Given the description of an element on the screen output the (x, y) to click on. 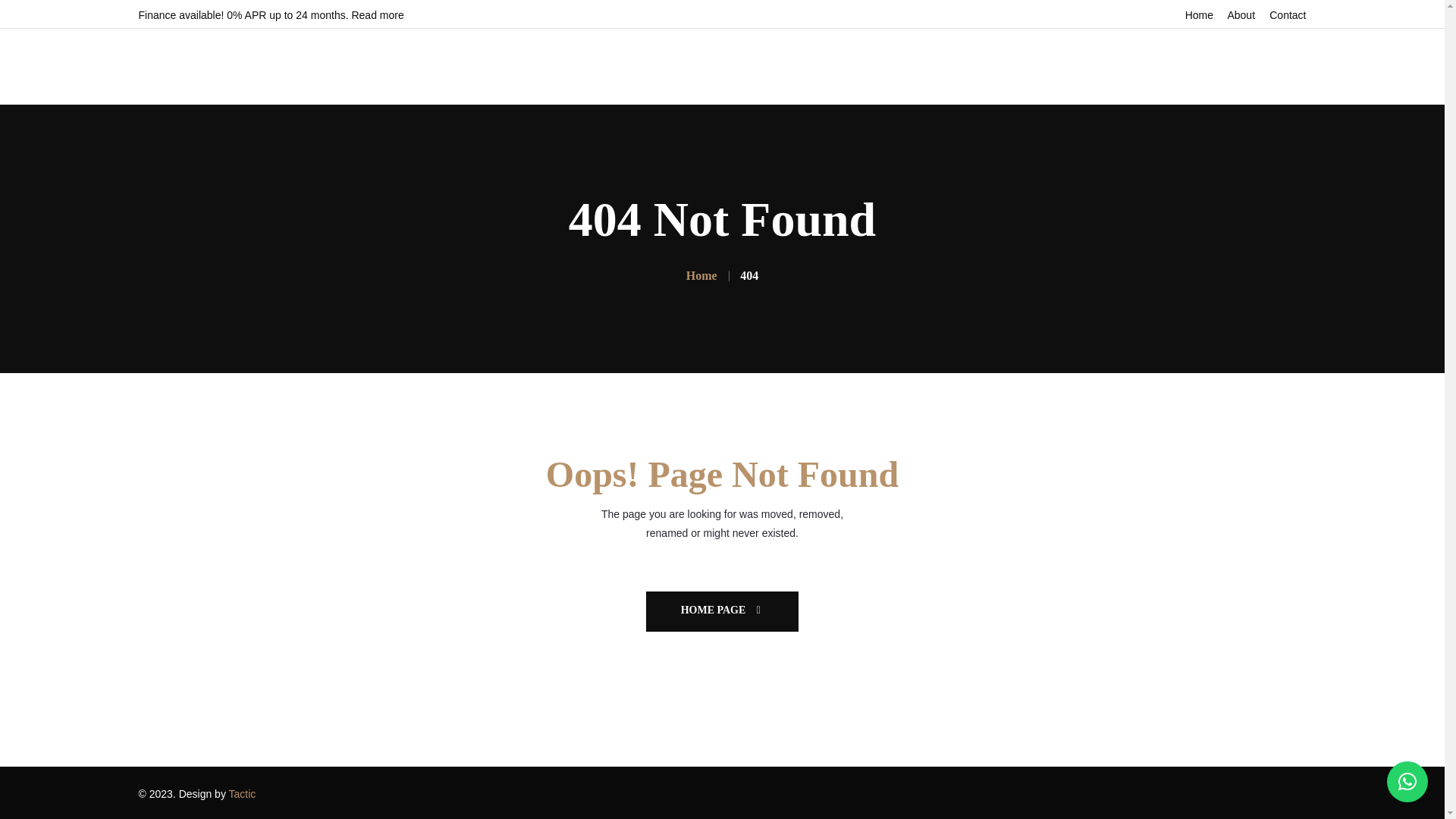
About (1241, 15)
Home (1198, 15)
Go to Home. (701, 275)
Contact (1287, 15)
